Given the description of an element on the screen output the (x, y) to click on. 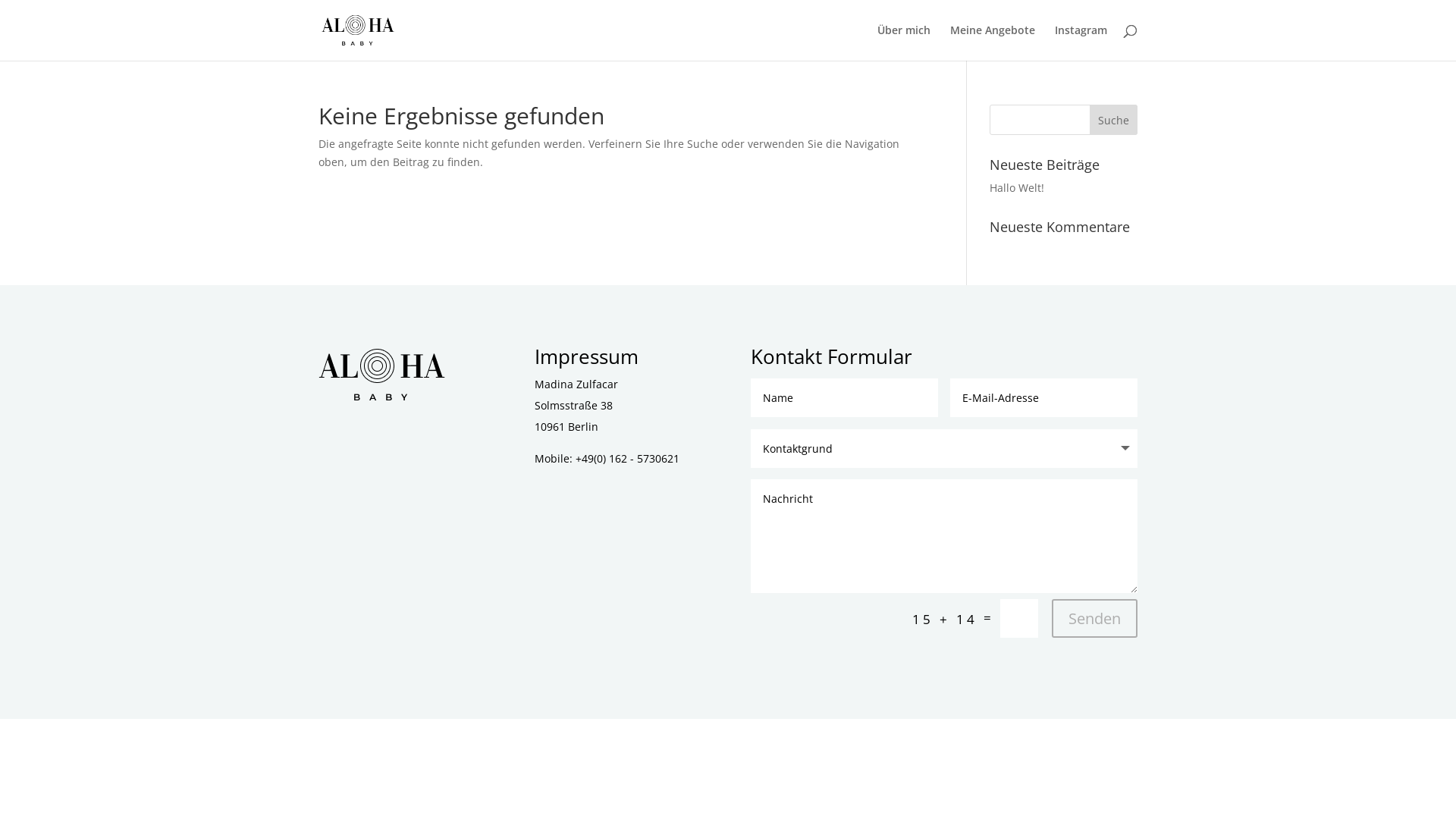
Meine Angebote Element type: text (992, 42)
Suche Element type: text (1113, 119)
Group 1 (5) Element type: hover (381, 374)
Instagram Element type: text (1080, 42)
Hallo Welt! Element type: text (1016, 187)
Senden Element type: text (1094, 618)
